Given the description of an element on the screen output the (x, y) to click on. 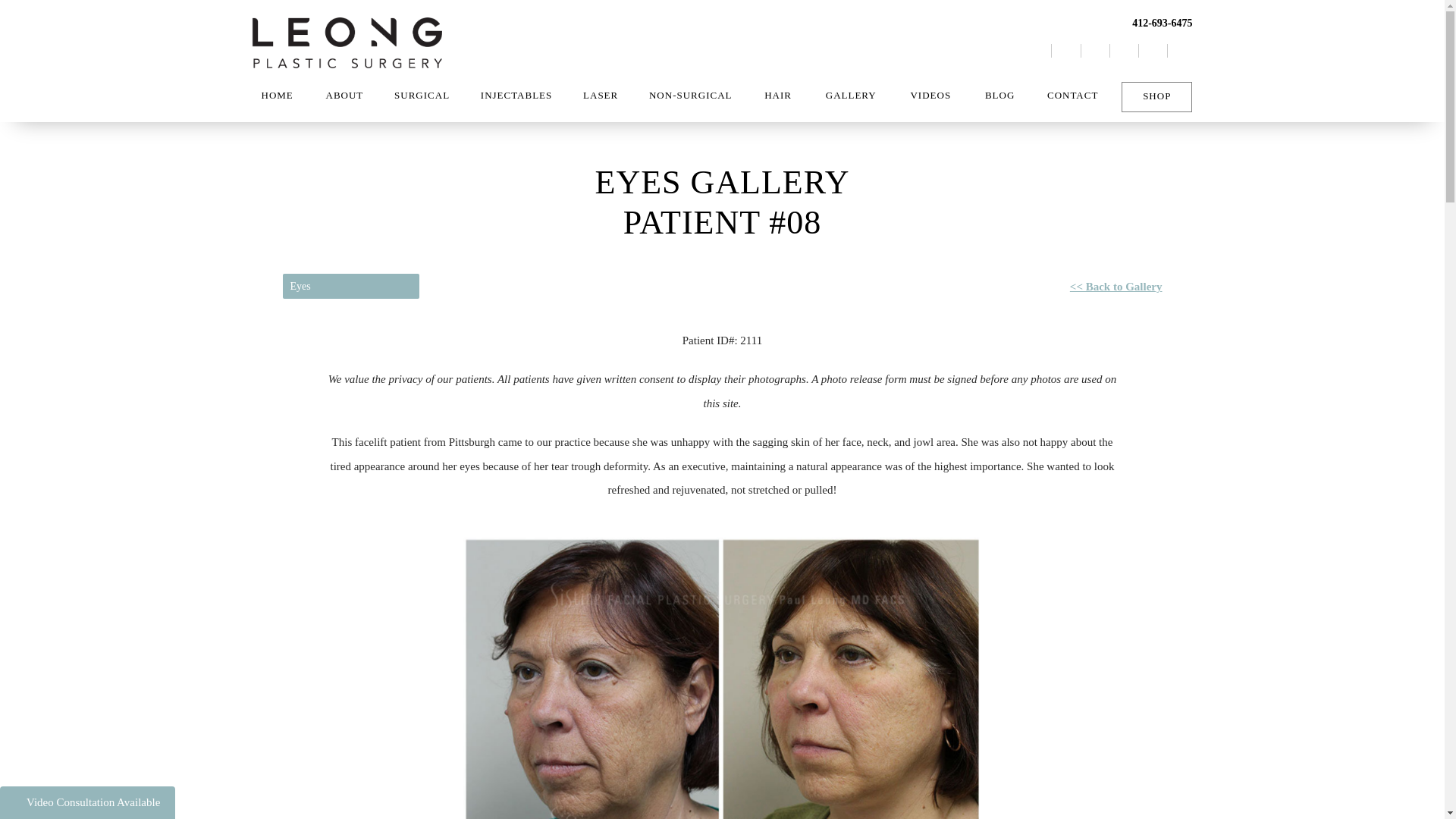
ABOUT (344, 94)
412-693-6475 (1108, 23)
HOME (276, 95)
SURGICAL (422, 94)
